Given the description of an element on the screen output the (x, y) to click on. 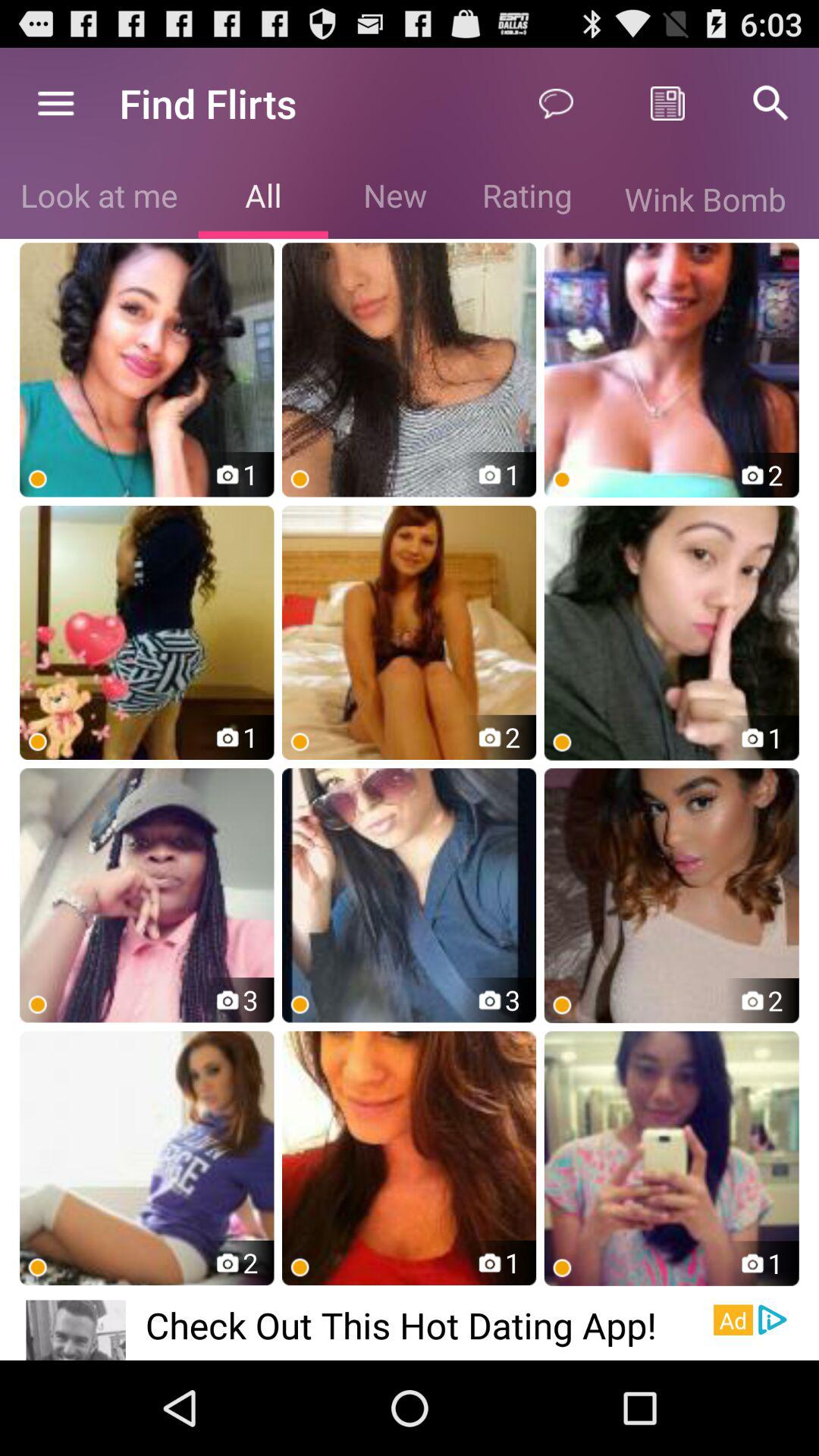
select app next to  ad  icon (772, 1319)
